Given the description of an element on the screen output the (x, y) to click on. 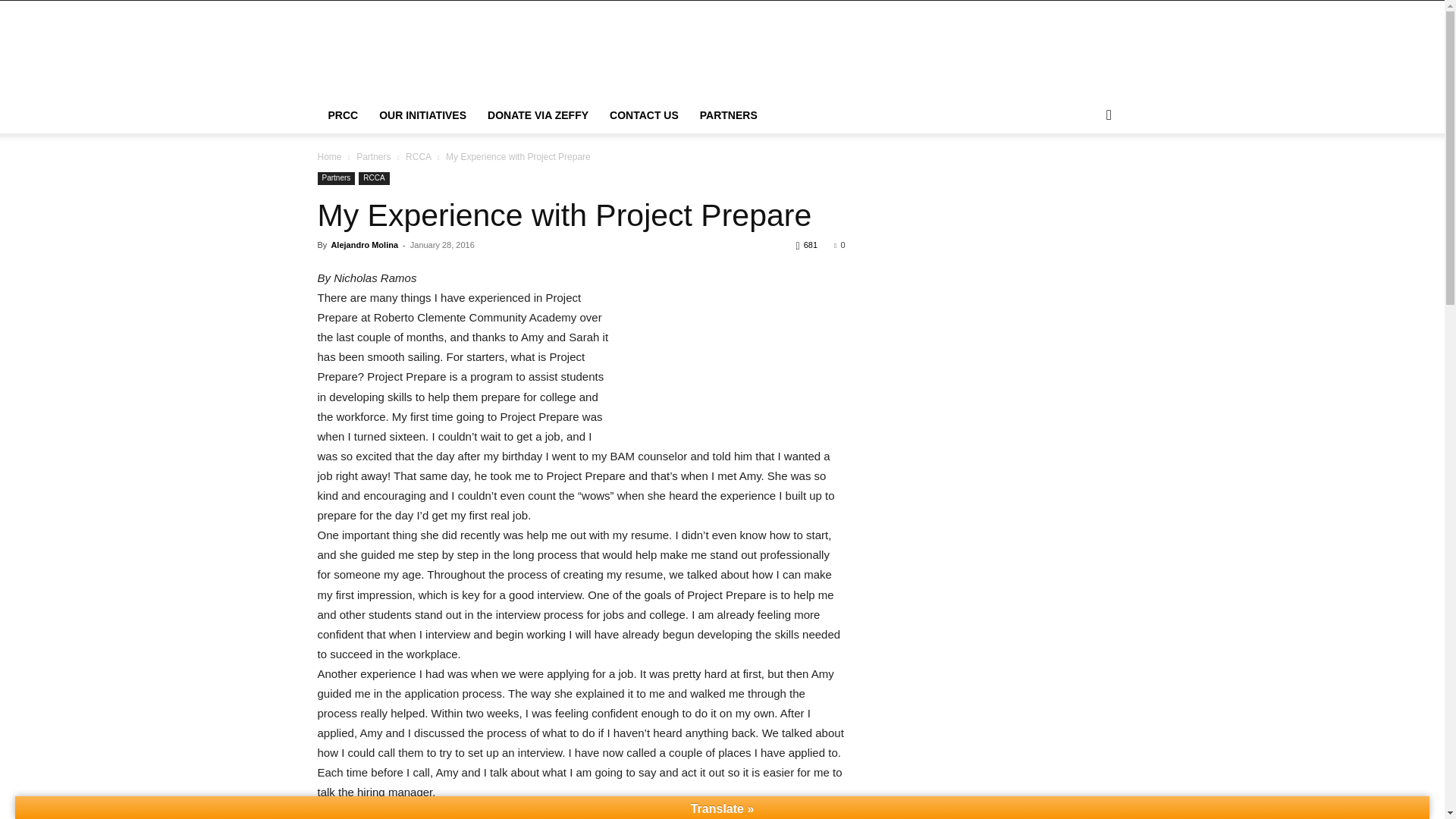
CONTACT US (643, 115)
Search (1085, 175)
OUR INITIATIVES (422, 115)
Partners (373, 156)
Alejandro Molina (363, 244)
View all posts in Partners (373, 156)
DONATE VIA ZEFFY (537, 115)
View all posts in RCCA (418, 156)
Partners (336, 178)
PARTNERS (728, 115)
